Given the description of an element on the screen output the (x, y) to click on. 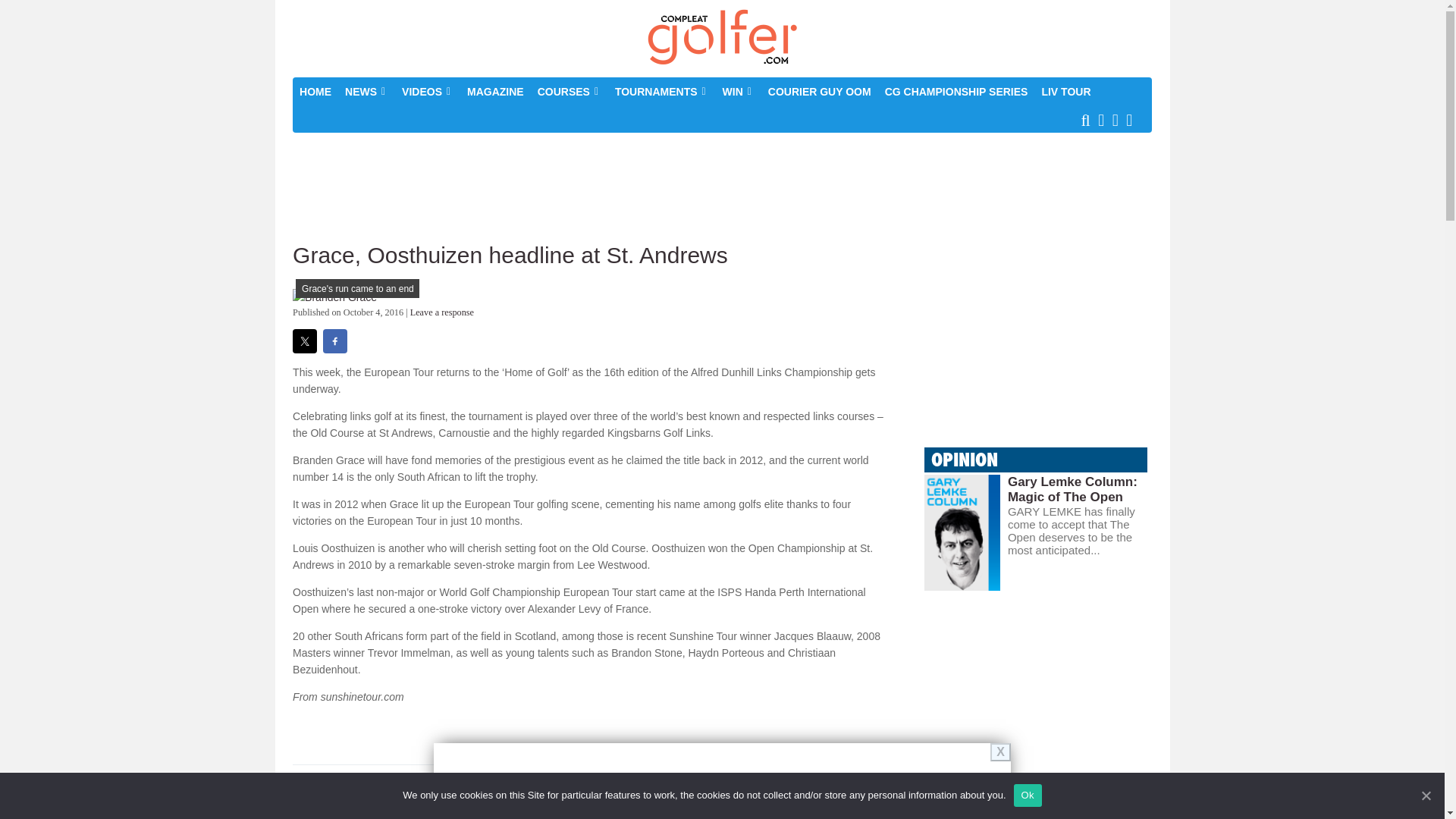
Grace, Oosthuizen headline at St. Andrews (334, 297)
WIN (738, 91)
3rd party ad content (1037, 693)
Comment on Grace, Oosthuizen headline at St. Andrews (442, 312)
LIV TOUR (1065, 91)
Tuesday, October 4th, 2016, 2:16 pm (373, 312)
MAGAZINE (495, 91)
HOME (314, 91)
COURIER GUY OOM (819, 91)
Compleat Golfer (721, 38)
3rd party ad content (1037, 340)
NEWS (365, 91)
COURSES (569, 91)
3rd party ad content (721, 185)
CG CHAMPIONSHIP SERIES (956, 91)
